Given the description of an element on the screen output the (x, y) to click on. 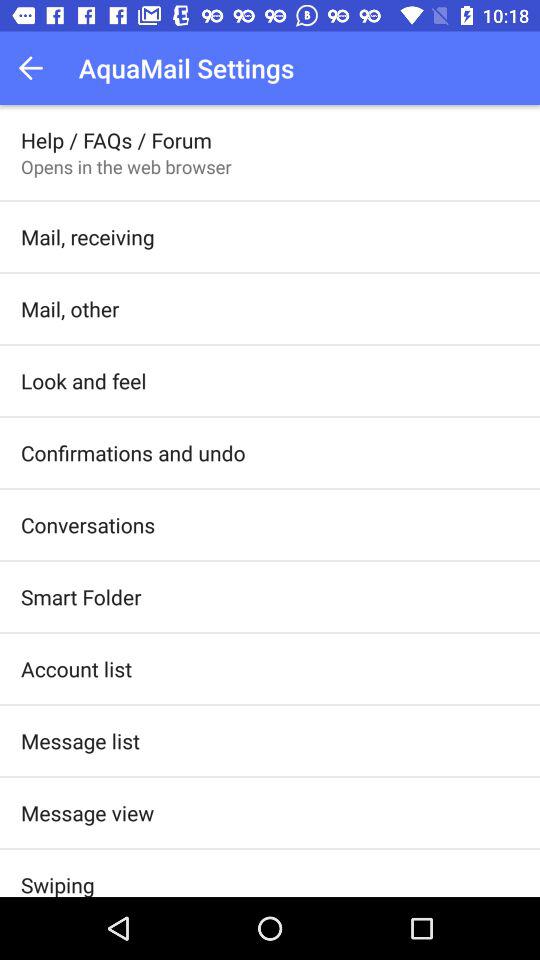
flip to the conversations icon (88, 524)
